Given the description of an element on the screen output the (x, y) to click on. 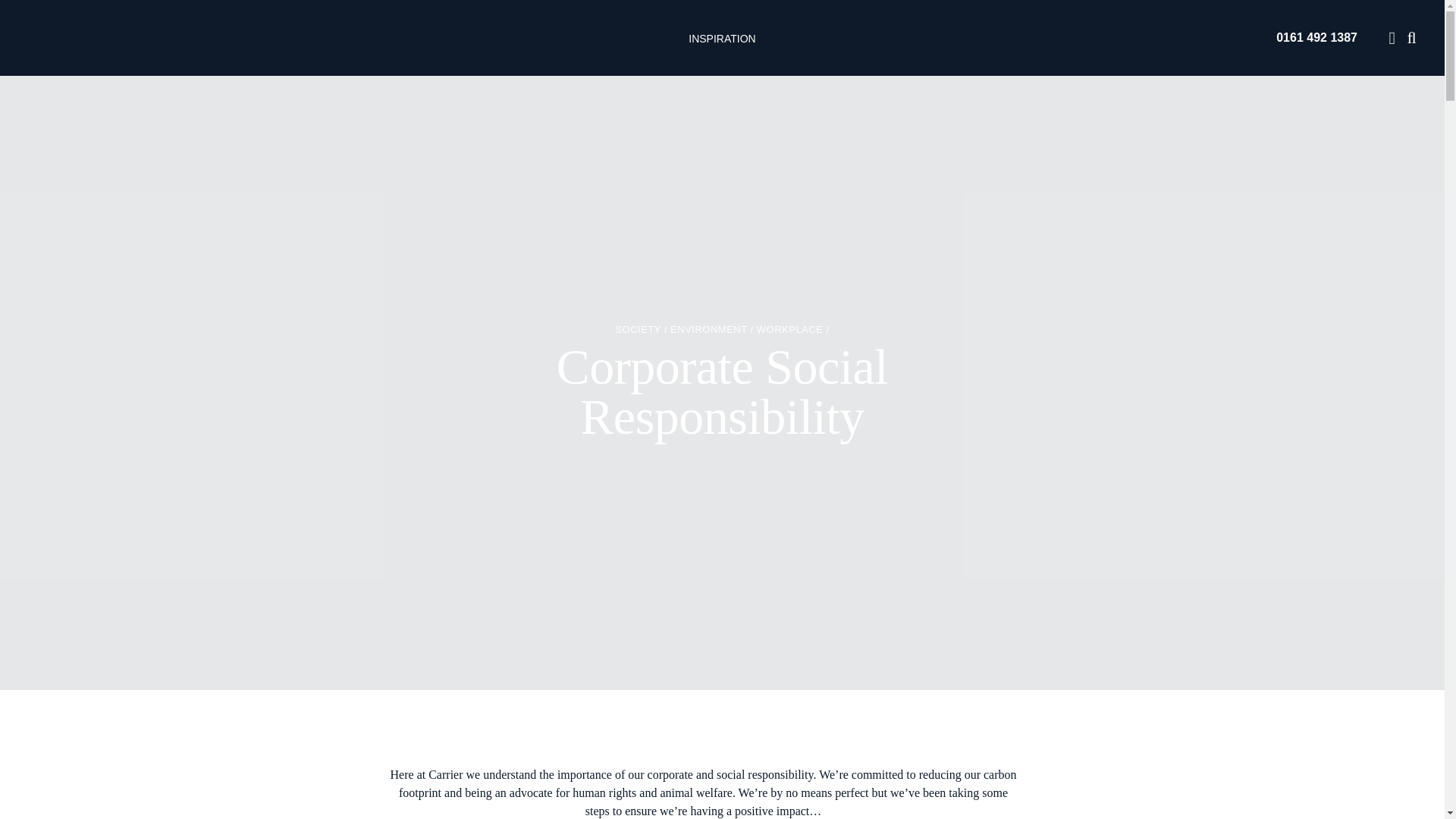
OFFERS (739, 16)
HOLIDAY TYPES (650, 16)
Carrier (65, 37)
0161 492 1387 (1316, 37)
ITINERARIES (820, 16)
THE PAPER (909, 16)
INSPIRATION (721, 54)
DESTINATIONS (543, 16)
